Given the description of an element on the screen output the (x, y) to click on. 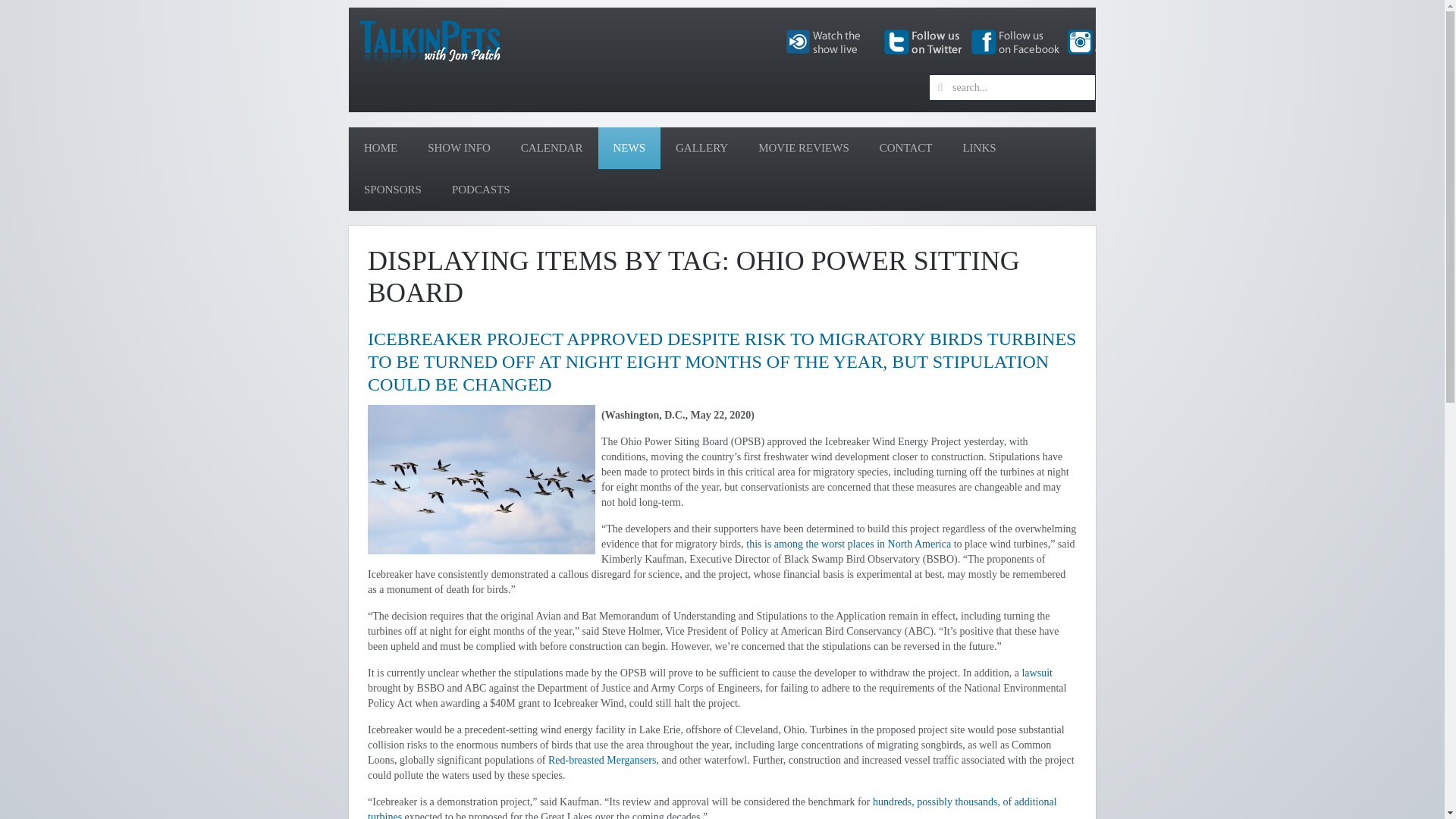
Follow us on Facebook (1015, 41)
SPONSORS (392, 189)
GALLERY (701, 147)
SHOW INFO (458, 147)
hundreds, possibly thousands, of additional turbines (712, 807)
Red-breasted Mergansers (602, 759)
HOME (380, 147)
Follow us on Twitter (922, 41)
lawsuit (1036, 672)
NEWS (628, 147)
CONTACT (905, 147)
PODCASTS (480, 189)
MOVIE REVIEWS (803, 147)
LINKS (978, 147)
